Given the description of an element on the screen output the (x, y) to click on. 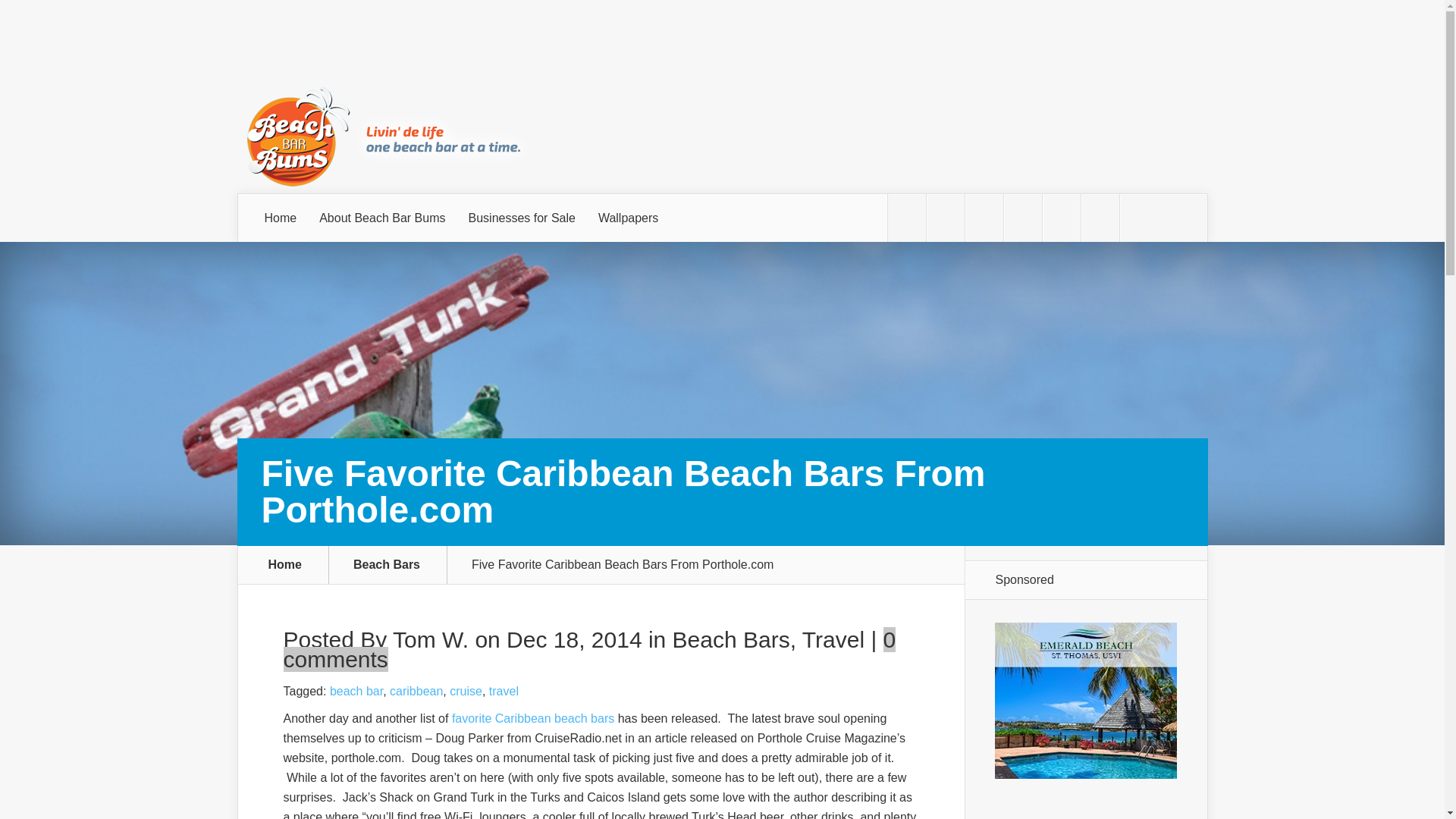
Businesses for Sale (521, 218)
Beach Bars (731, 639)
Tom W. (430, 639)
Posts by Tom W. (430, 639)
caribbean (416, 690)
Travel (833, 639)
Wallpapers (627, 218)
favorite Caribbean beach bars (532, 717)
Home (280, 218)
travel (503, 690)
